Given the description of an element on the screen output the (x, y) to click on. 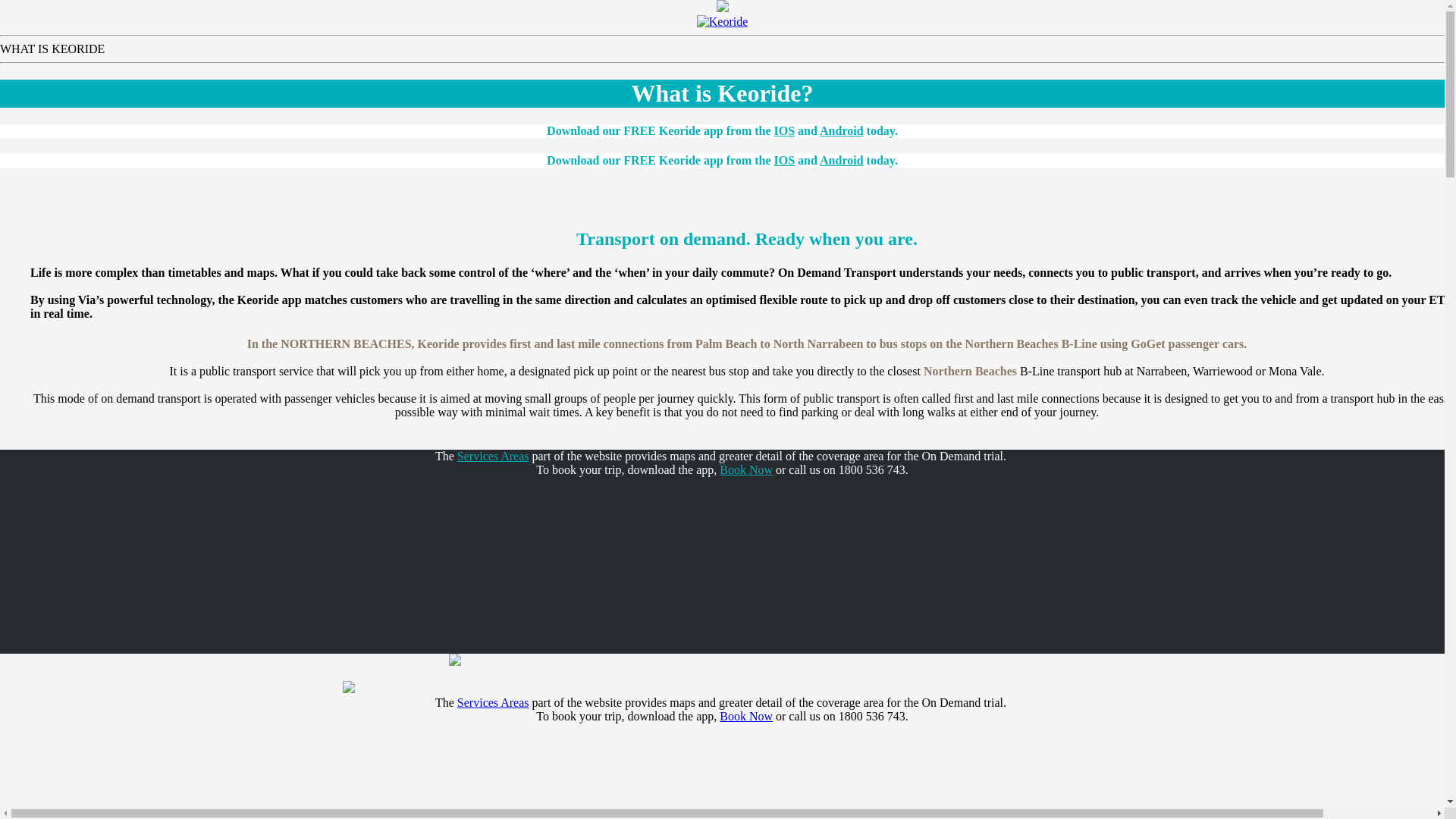
Services Areas Element type: text (493, 702)
Book Now Element type: text (745, 469)
IOS Element type: text (784, 159)
Services Areas Element type: text (493, 455)
Android Element type: text (841, 130)
Android Element type: text (841, 159)
IOS Element type: text (784, 130)
Book Now Element type: text (745, 715)
